Given the description of an element on the screen output the (x, y) to click on. 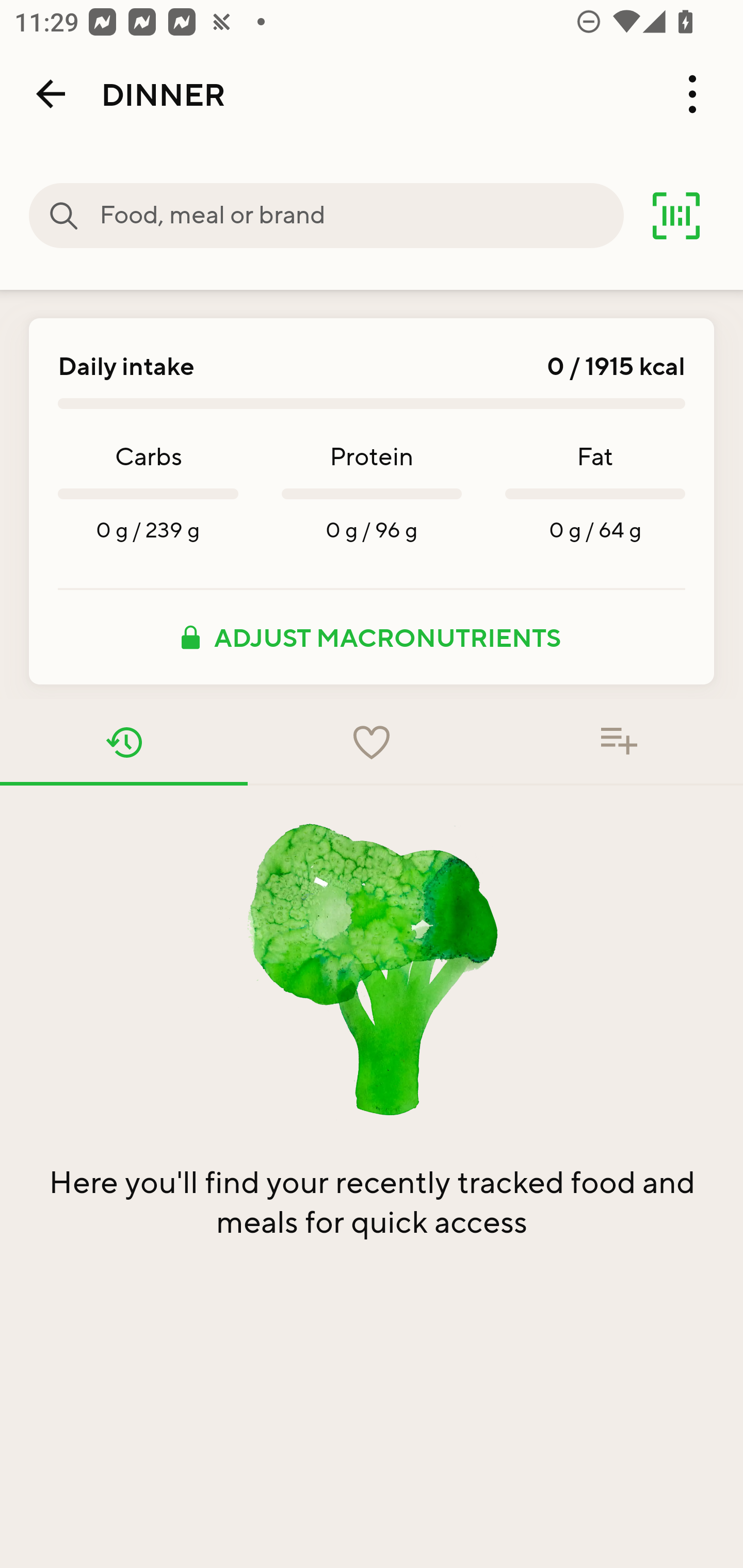
Back (50, 93)
Food, meal or brand (63, 215)
Food, meal or brand (361, 215)
ADJUST MACRONUTRIENTS (371, 637)
Favorites (371, 742)
Food added (619, 742)
